Given the description of an element on the screen output the (x, y) to click on. 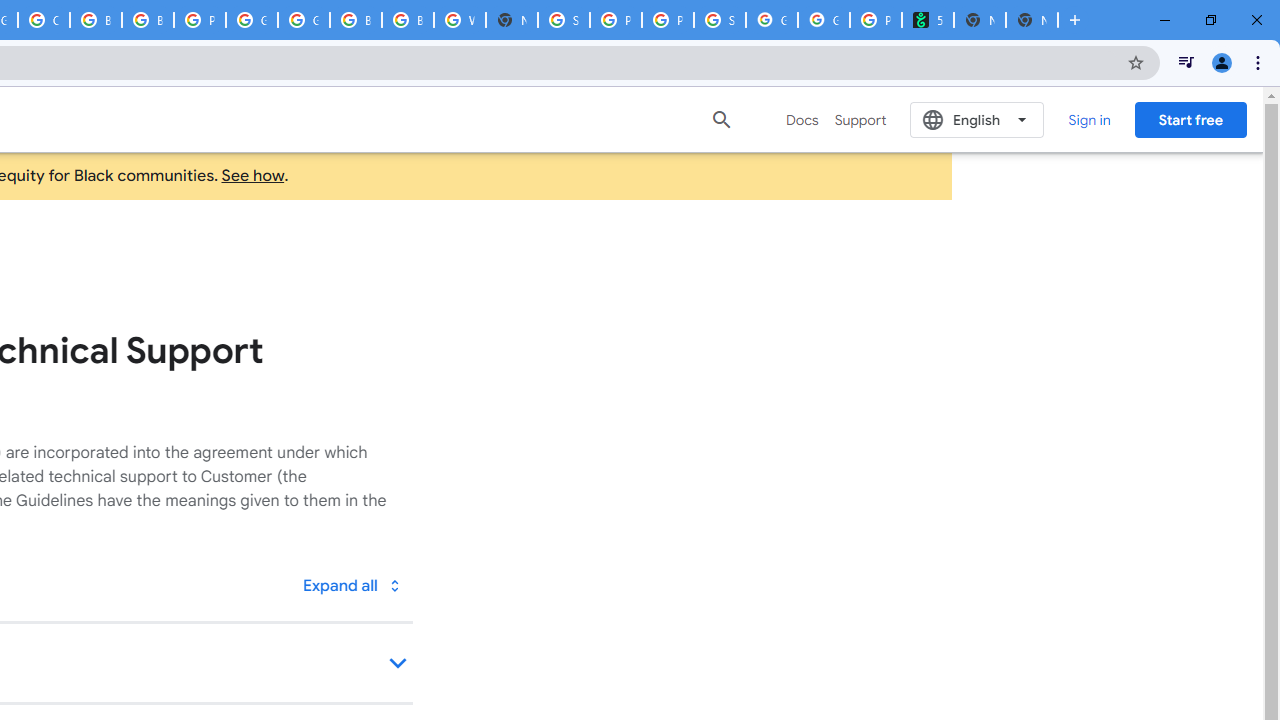
Browse Chrome as a guest - Computer - Google Chrome Help (355, 20)
Start free (1190, 119)
Google Cloud Platform (303, 20)
Browse Chrome as a guest - Computer - Google Chrome Help (95, 20)
Sign in - Google Accounts (563, 20)
